Given the description of an element on the screen output the (x, y) to click on. 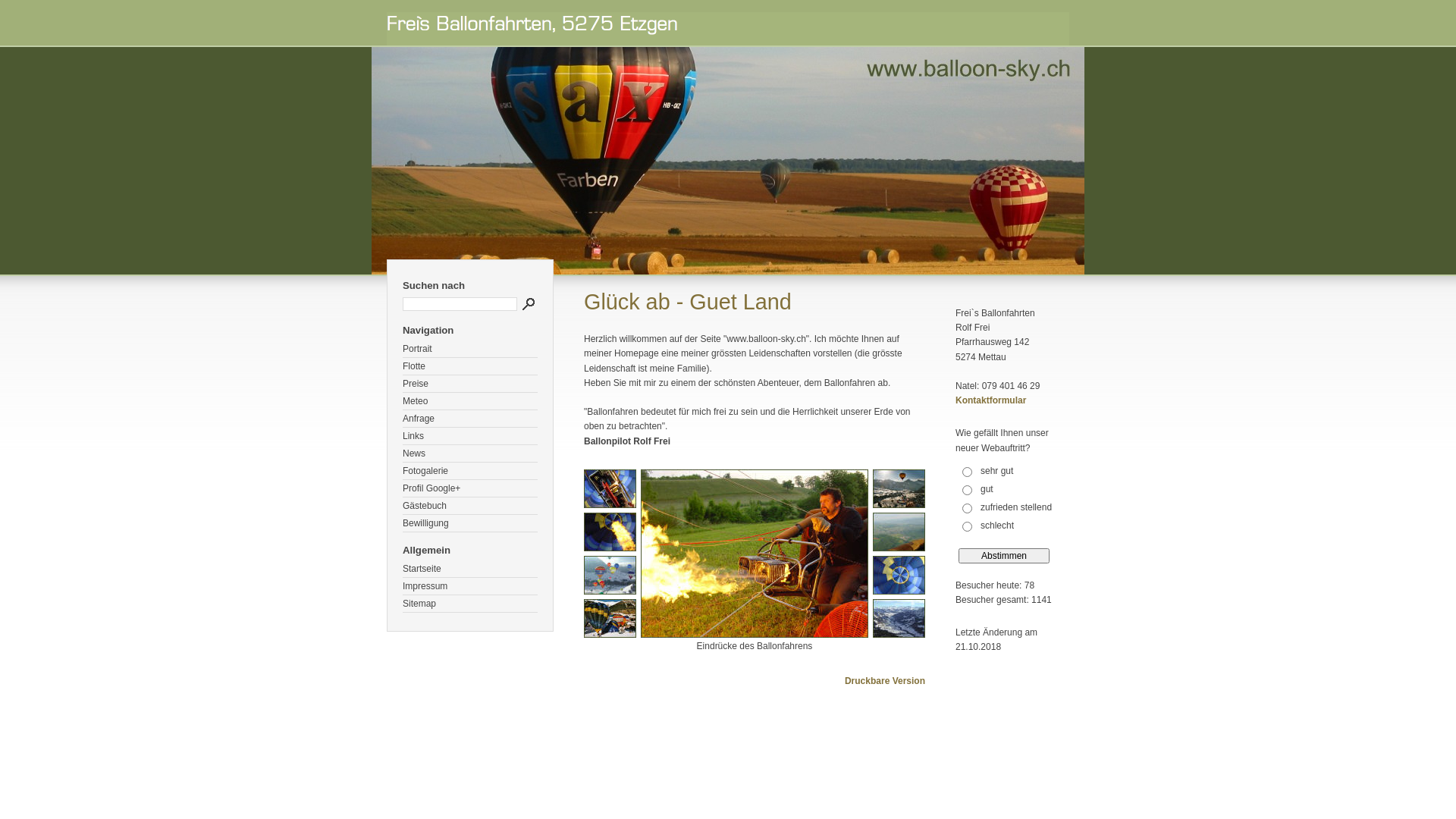
Anfrage Element type: text (469, 418)
Startseite Element type: text (469, 568)
Kontaktformular Element type: text (990, 400)
Abstimmen Element type: text (1003, 555)
Portrait Element type: text (469, 348)
Profil Google+ Element type: text (469, 488)
Links Element type: text (469, 436)
Fotogalerie Element type: text (469, 471)
Druckbare Version Element type: text (884, 680)
Sitemap Element type: text (469, 603)
Preise Element type: text (469, 383)
Bewilligung Element type: text (469, 523)
Impressum Element type: text (469, 586)
Flotte Element type: text (469, 366)
Meteo Element type: text (469, 401)
News Element type: text (469, 453)
